Given the description of an element on the screen output the (x, y) to click on. 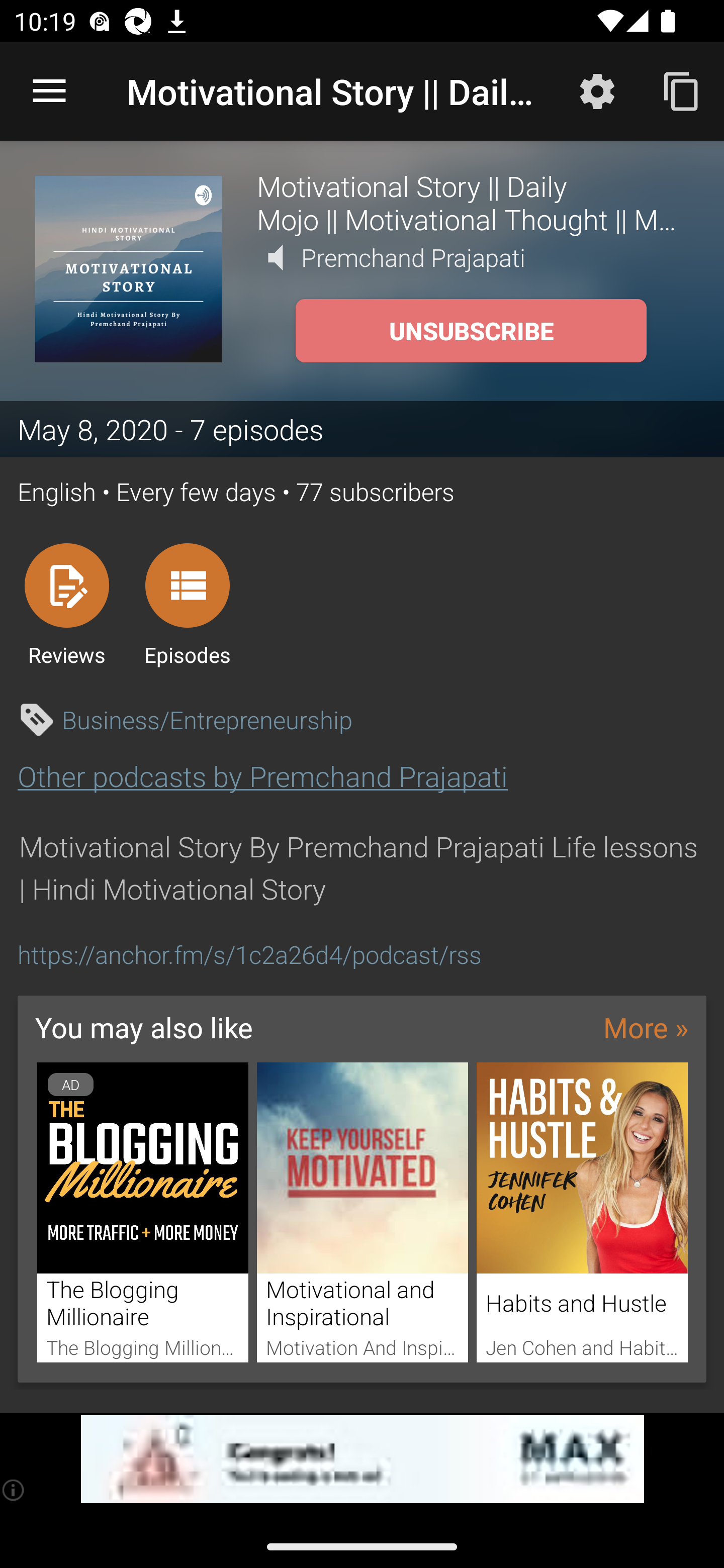
Open navigation sidebar (49, 91)
Settings (597, 90)
Copy feed url to clipboard (681, 90)
UNSUBSCRIBE (470, 330)
Reviews (66, 604)
Episodes (187, 604)
Other podcasts by Premchand Prajapati (262, 775)
More » (645, 1026)
Habits and Hustle Jen Cohen and Habit Nest (581, 1212)
app-monetization (362, 1459)
(i) (14, 1489)
